Given the description of an element on the screen output the (x, y) to click on. 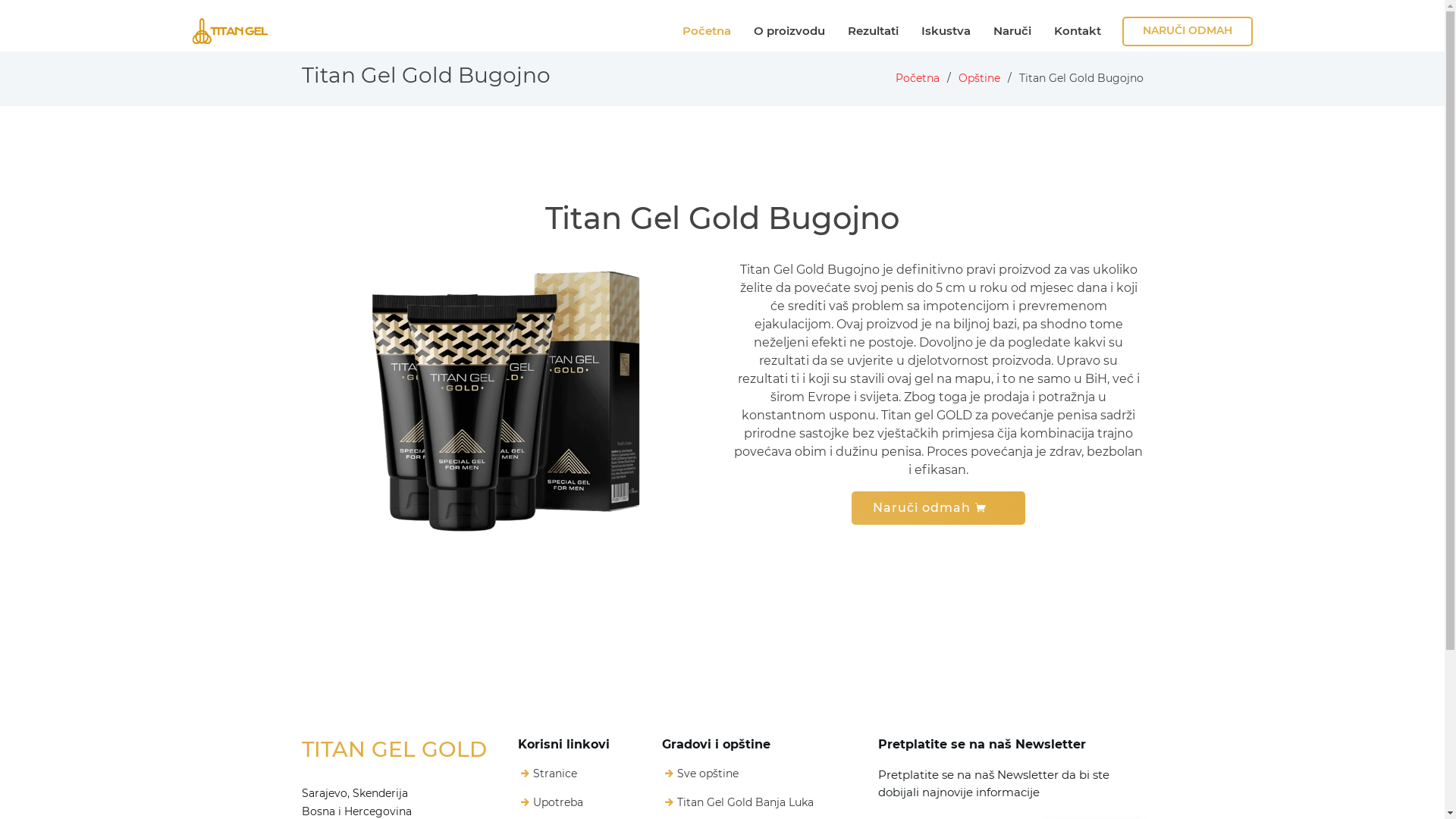
Stranice Element type: text (554, 773)
Titan Gel Gold Banja Luka Element type: text (744, 802)
Rezultati Element type: text (872, 31)
Upotreba Element type: text (557, 802)
Kontakt Element type: text (1077, 31)
Iskustva Element type: text (945, 31)
O proizvodu Element type: text (789, 31)
